Given the description of an element on the screen output the (x, y) to click on. 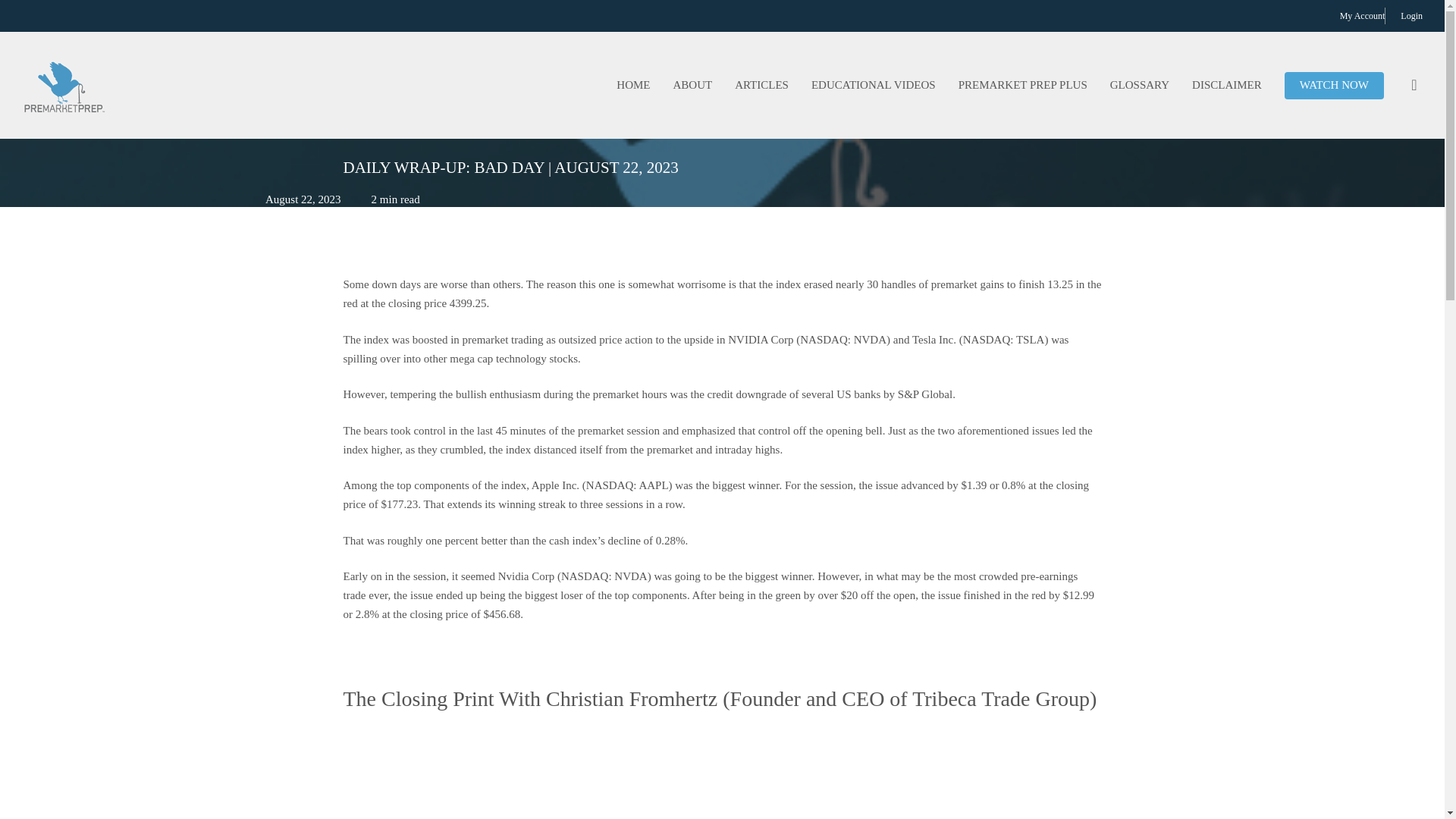
My Account (1362, 15)
YouTube video player (721, 769)
search (1414, 84)
WATCH NOW (1334, 85)
Login (1411, 15)
DISCLAIMER (1226, 85)
GLOSSARY (1139, 85)
PREMARKET PREP PLUS (1023, 85)
ARTICLES (761, 85)
HOME (633, 85)
ABOUT (692, 85)
EDUCATIONAL VIDEOS (873, 85)
